Given the description of an element on the screen output the (x, y) to click on. 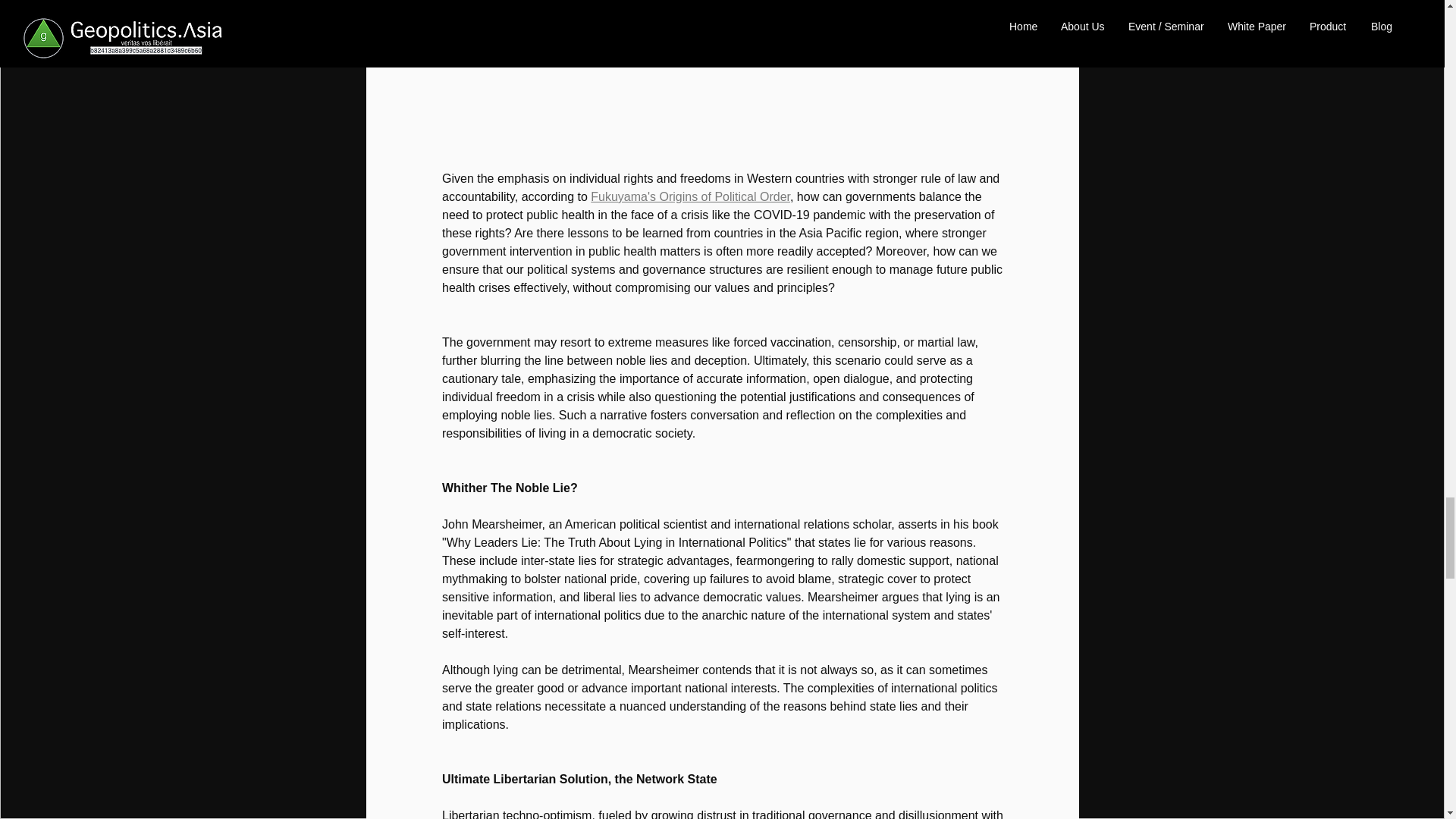
Fukuyama's Origins of Political Order (690, 196)
